Given the description of an element on the screen output the (x, y) to click on. 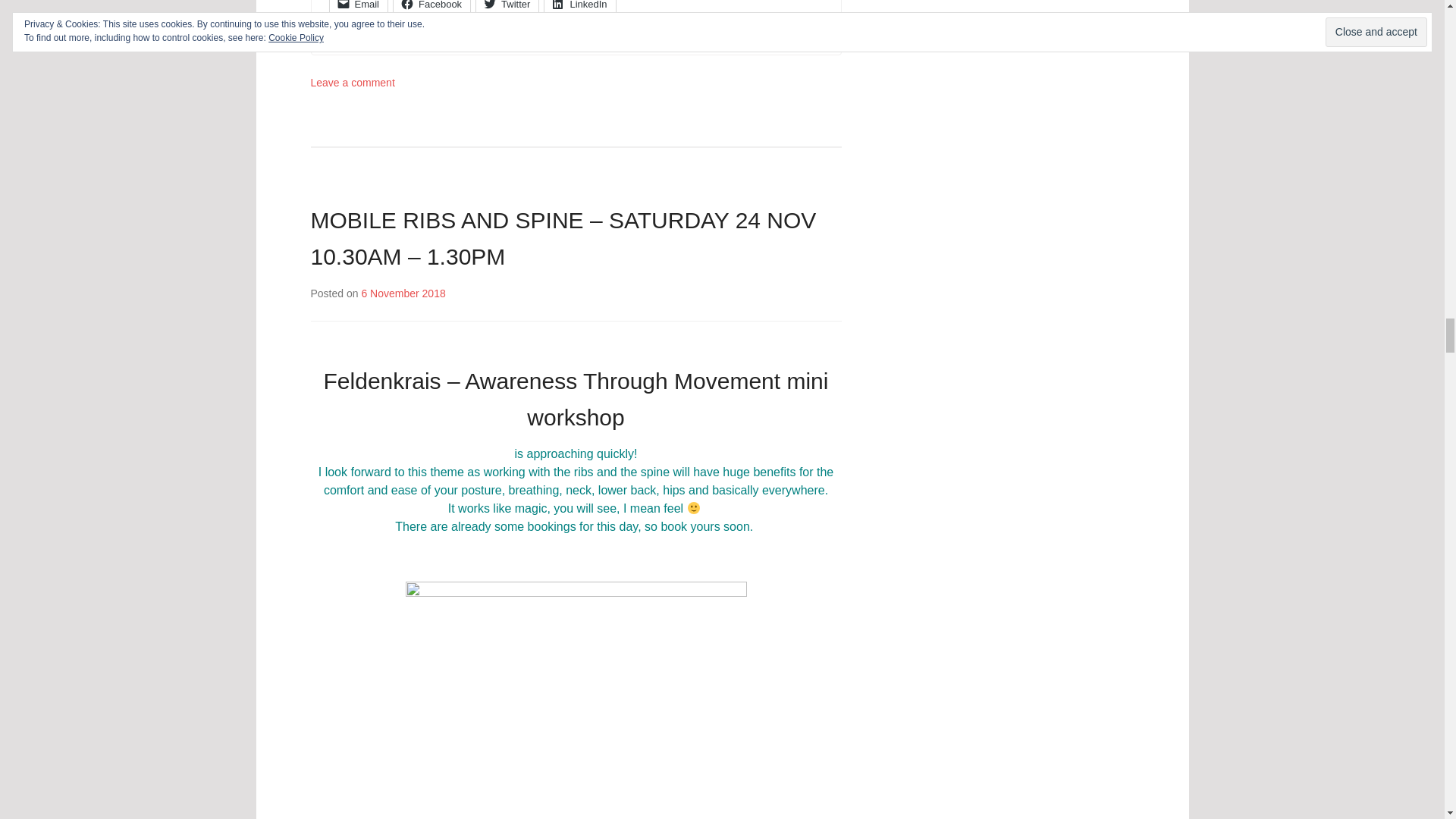
Click to share on Facebook (431, 7)
Click to share on LinkedIn (579, 7)
Email (358, 7)
Click to share on Twitter (507, 7)
Facebook (431, 7)
Click to email a link to a friend (358, 7)
